Given the description of an element on the screen output the (x, y) to click on. 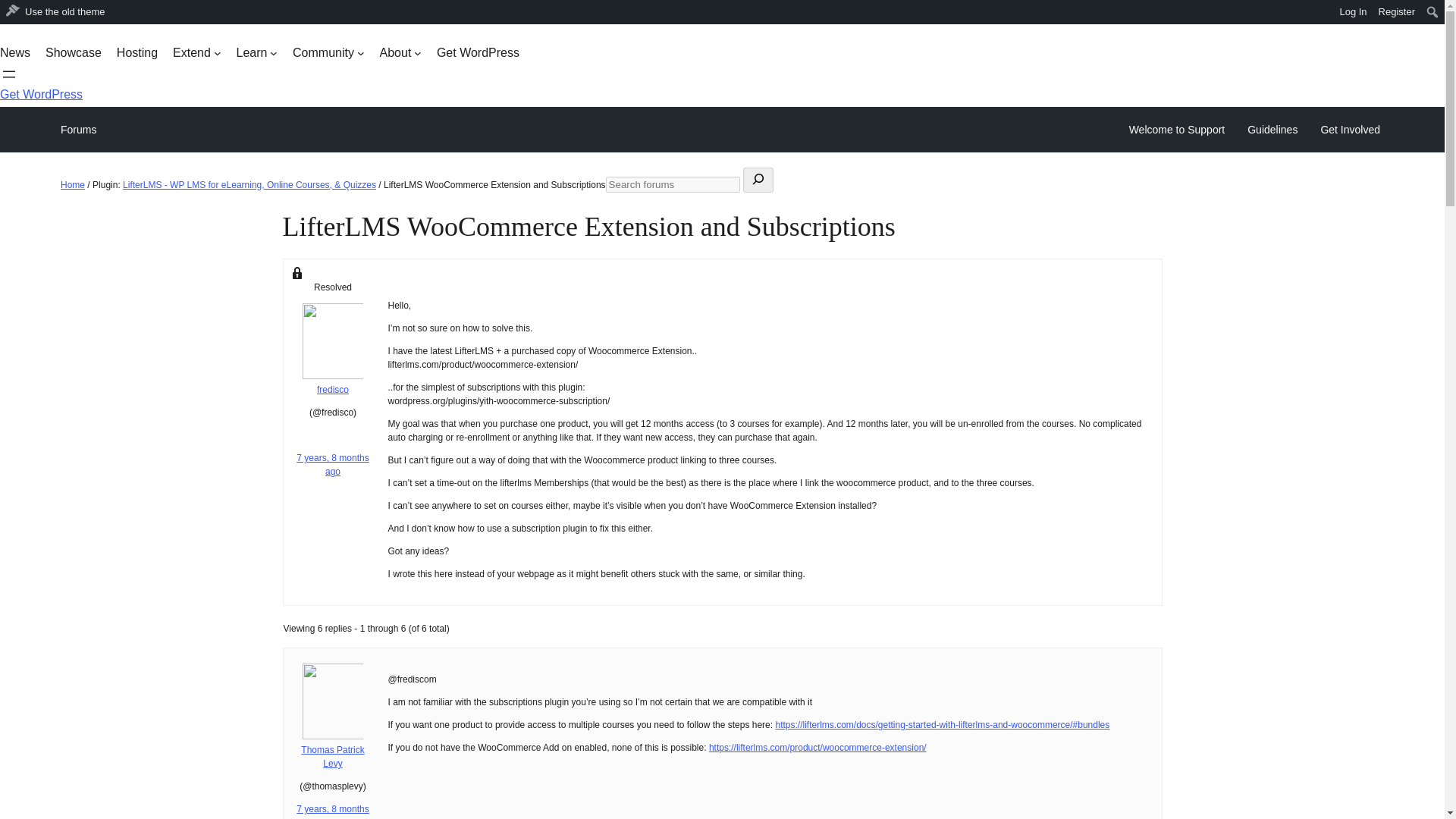
Learn (256, 52)
Get WordPress (477, 52)
Community (328, 52)
November 20, 2016 at 9:41 pm (332, 464)
Register (1397, 12)
View Thomas Patrick Levy's profile (333, 750)
WordPress.org (10, 10)
About (401, 52)
Showcase (73, 52)
News (15, 52)
Search (16, 13)
Get WordPress (41, 93)
View fredisco's profile (333, 383)
Log In (1353, 12)
Forums (78, 129)
